Given the description of an element on the screen output the (x, y) to click on. 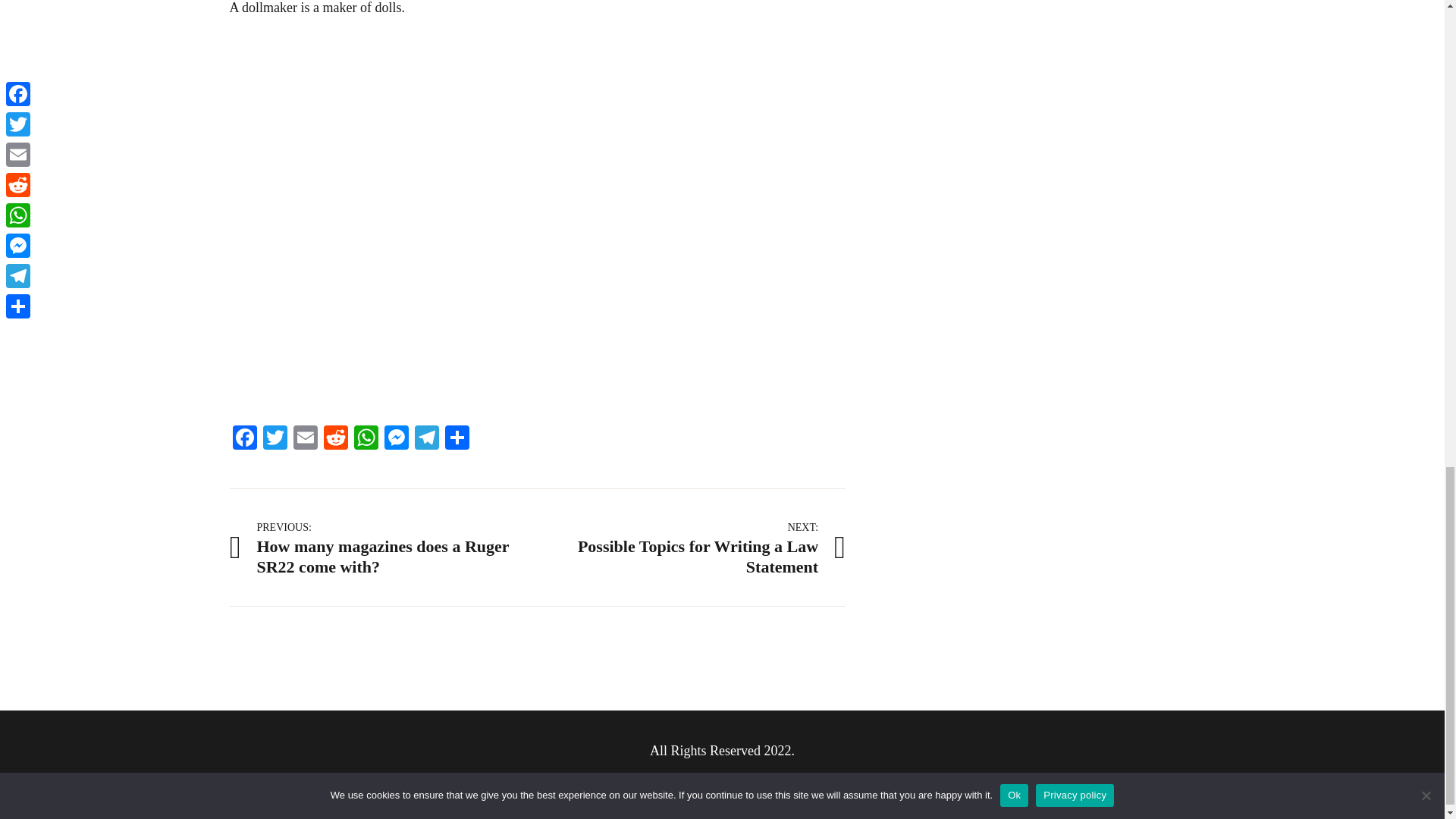
Telegram (425, 439)
Reddit (335, 439)
Proudly powered by WordPress (618, 777)
WhatsApp (365, 439)
Messenger (395, 439)
Telegram (425, 439)
Email (382, 546)
Messenger (304, 439)
Email (395, 439)
Facebook (304, 439)
Twitter (243, 439)
Share (274, 439)
WhatsApp (456, 439)
